Given the description of an element on the screen output the (x, y) to click on. 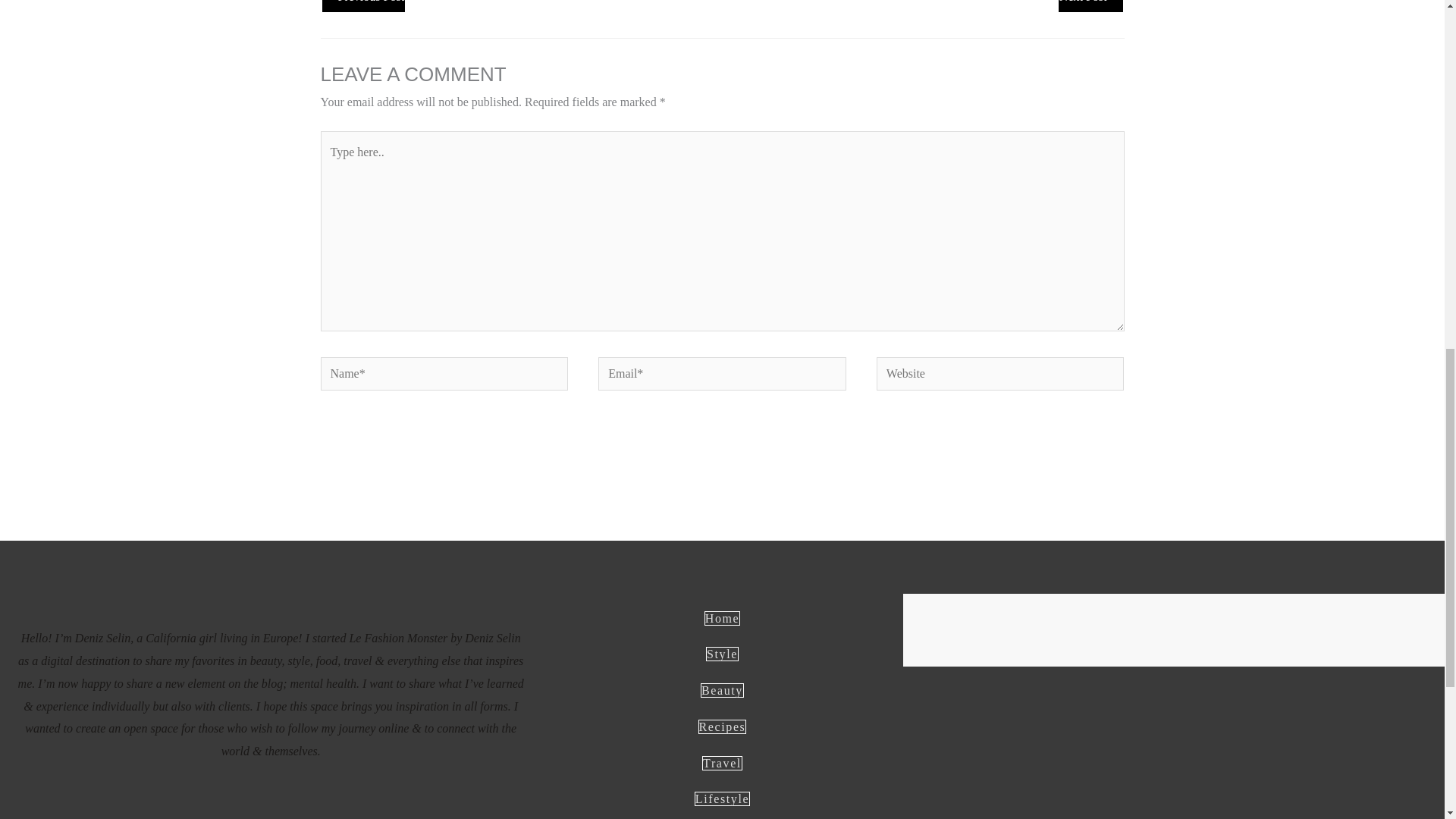
Lifestyle (721, 798)
Beauty (722, 690)
Travel (721, 762)
Men's Worst Style Mistakes (362, 5)
Get Framed! (1090, 5)
Recipes (722, 726)
Home (722, 617)
Style (722, 653)
